Given the description of an element on the screen output the (x, y) to click on. 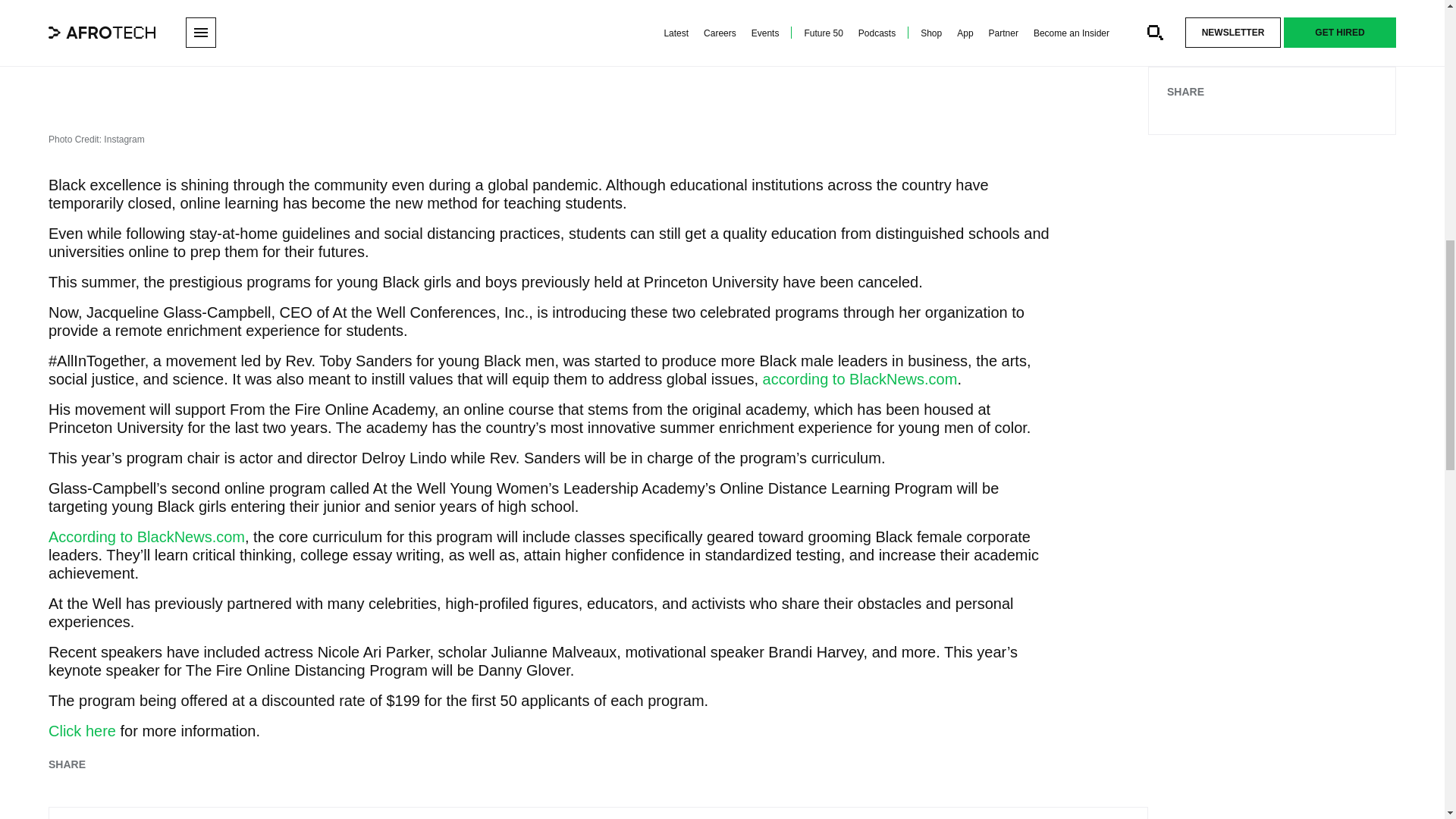
according to BlackNews.com (860, 379)
Click here (82, 730)
According to BlackNews.com (146, 536)
